Given the description of an element on the screen output the (x, y) to click on. 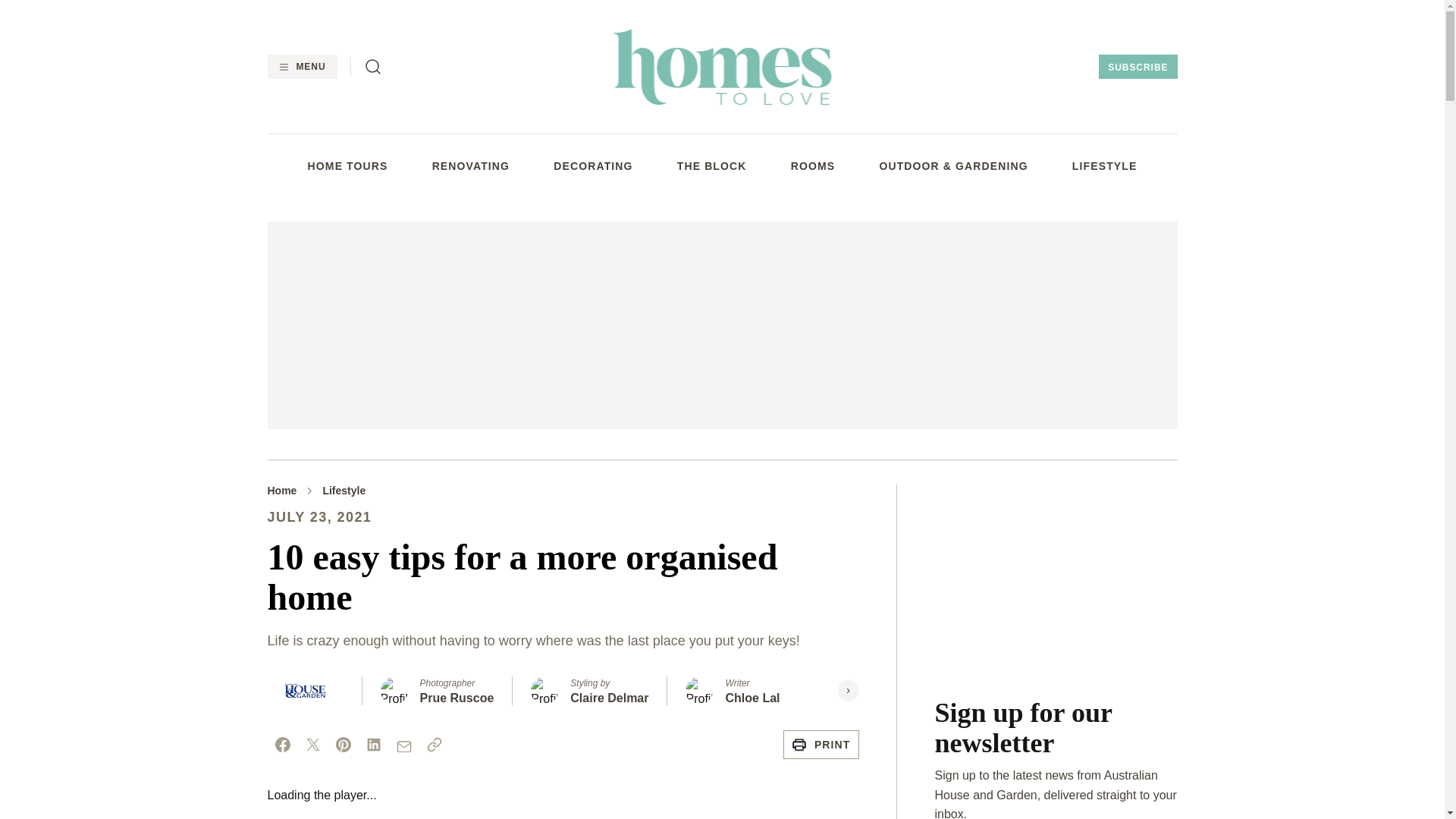
MENU (301, 66)
RENOVATING (470, 165)
LIFESTYLE (1104, 165)
ROOMS (812, 165)
DECORATING (592, 165)
THE BLOCK (711, 165)
SUBSCRIBE (1137, 66)
HOME TOURS (347, 165)
